Given the description of an element on the screen output the (x, y) to click on. 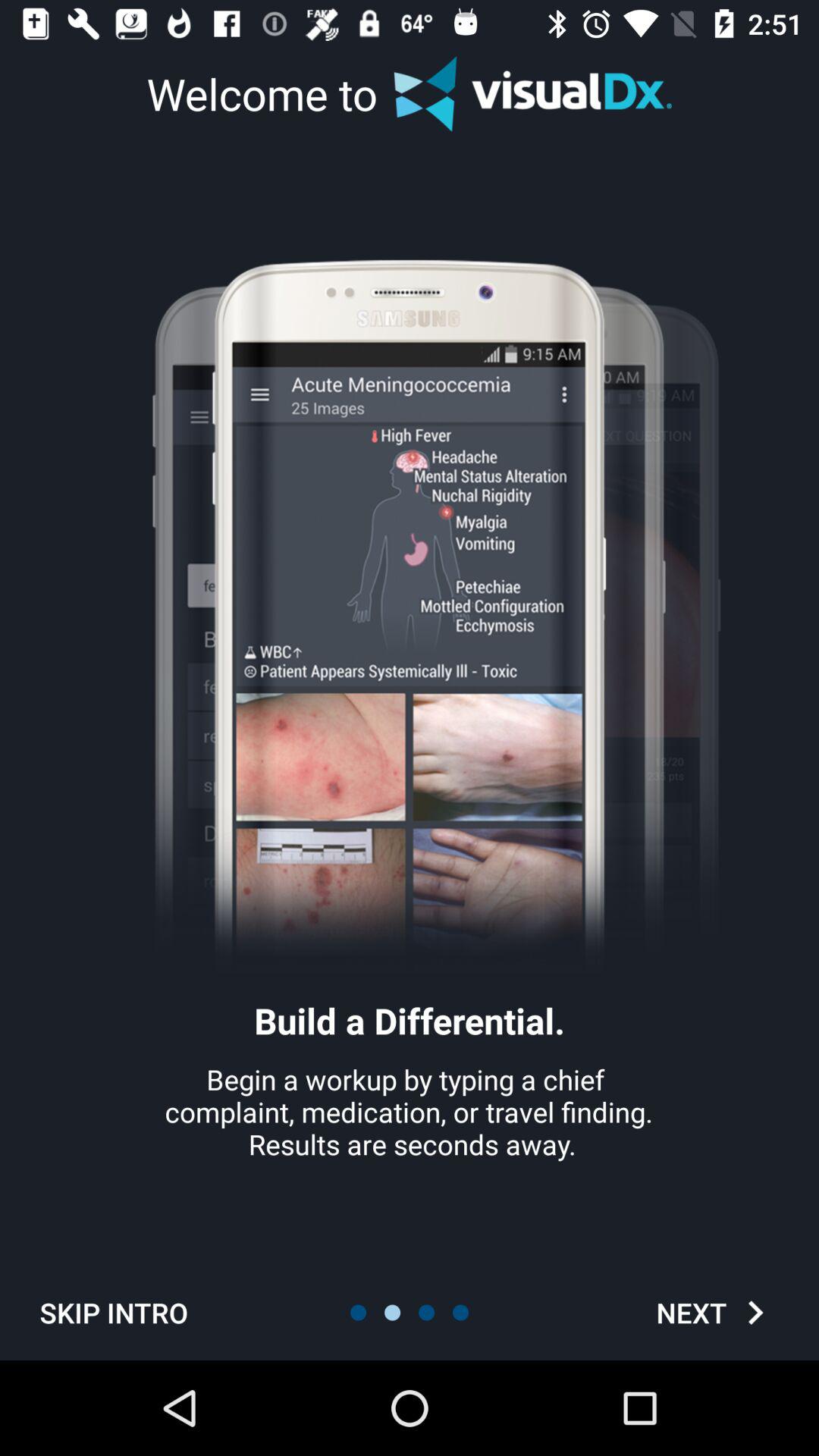
jump to the skip intro (113, 1312)
